Given the description of an element on the screen output the (x, y) to click on. 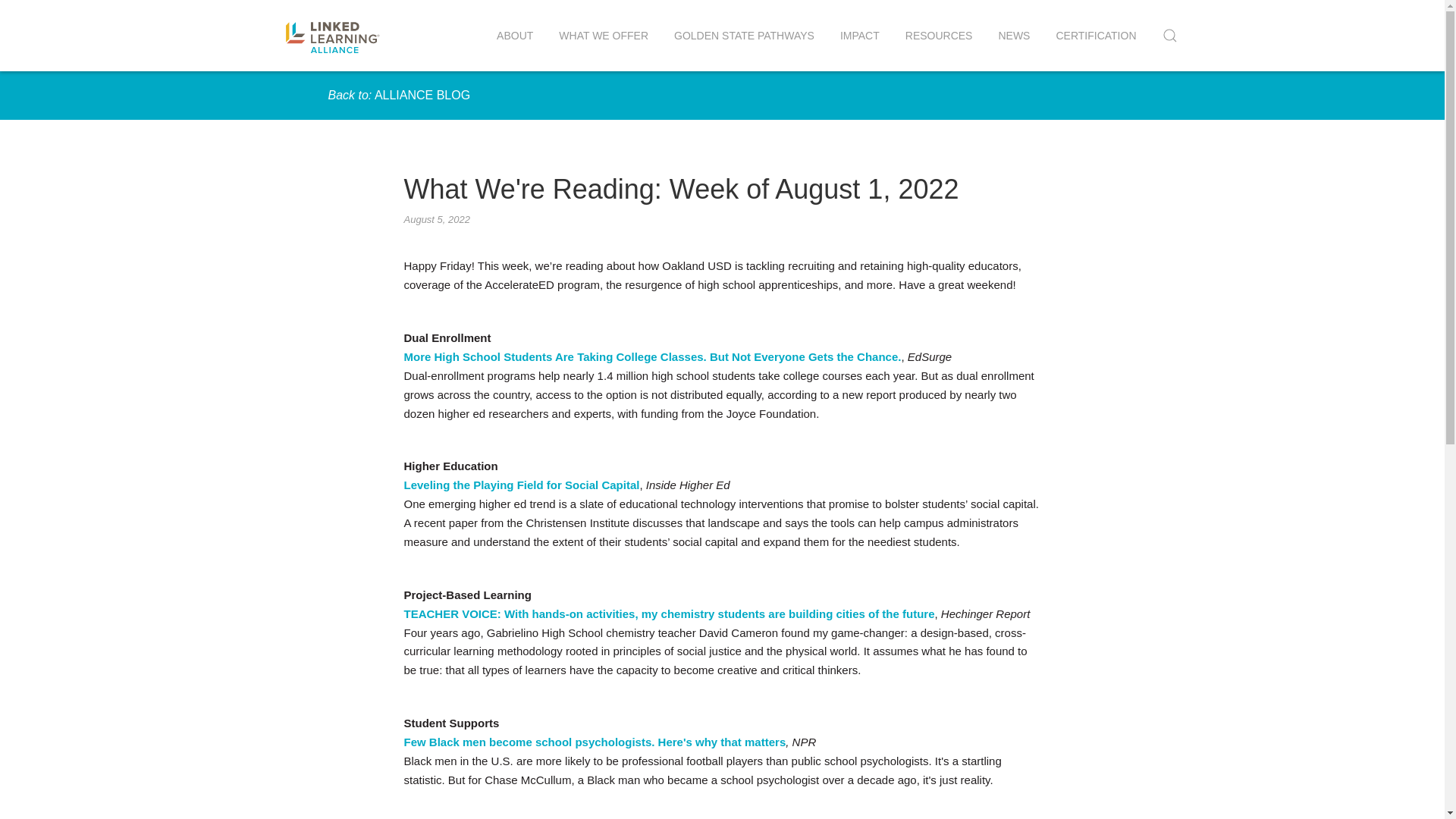
Leveling the Playing Field for Social Capital (521, 484)
CERTIFICATION (1095, 35)
RESOURCES (938, 35)
IMPACT (859, 35)
GOLDEN STATE PATHWAYS (744, 35)
ALLIANCE BLOG (422, 94)
WHAT WE OFFER (603, 35)
